Given the description of an element on the screen output the (x, y) to click on. 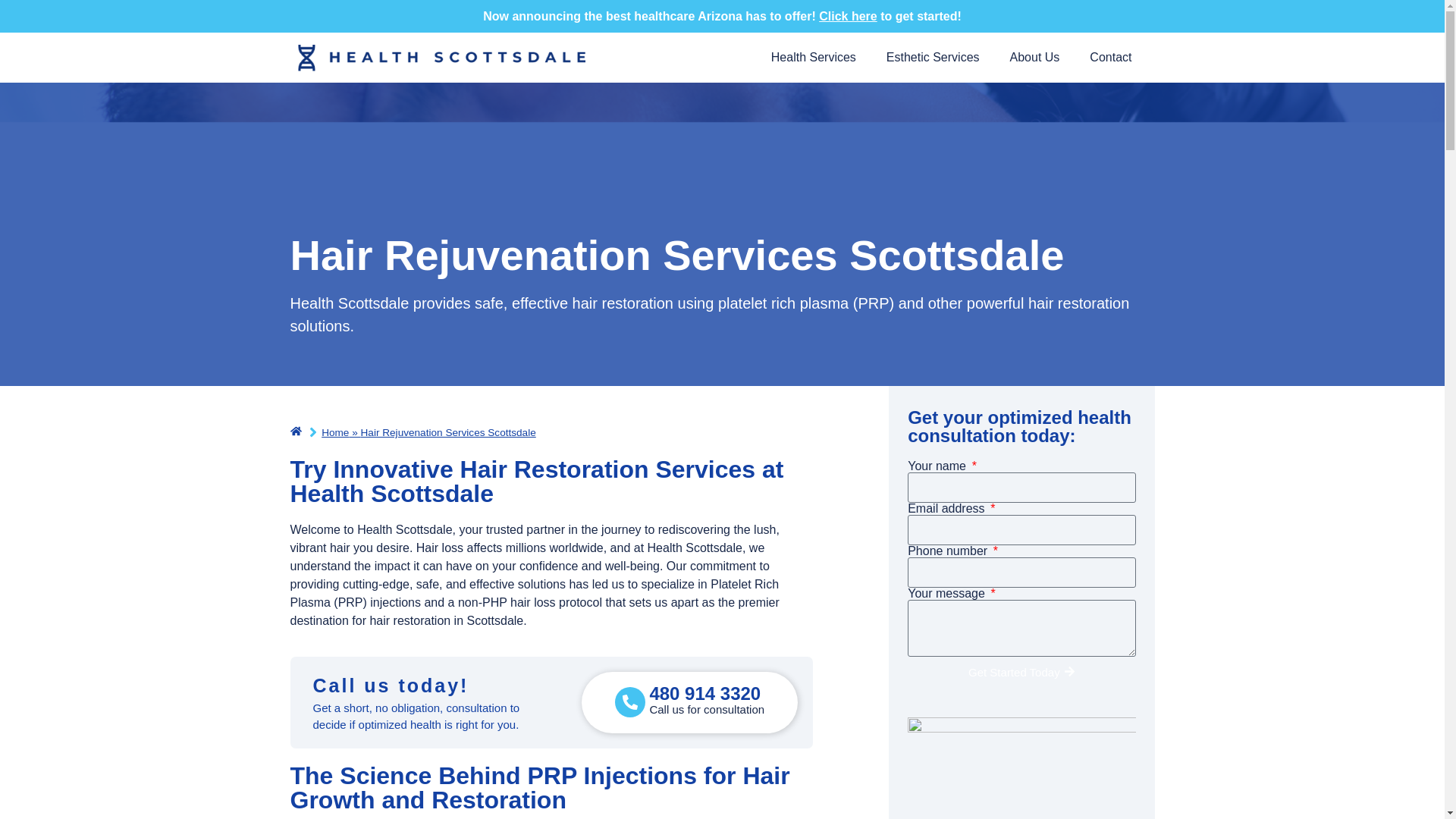
Home (335, 432)
About Us (1034, 57)
Esthetic Services (932, 57)
Contact (1110, 57)
Health Services (812, 57)
Click here (847, 15)
